Given the description of an element on the screen output the (x, y) to click on. 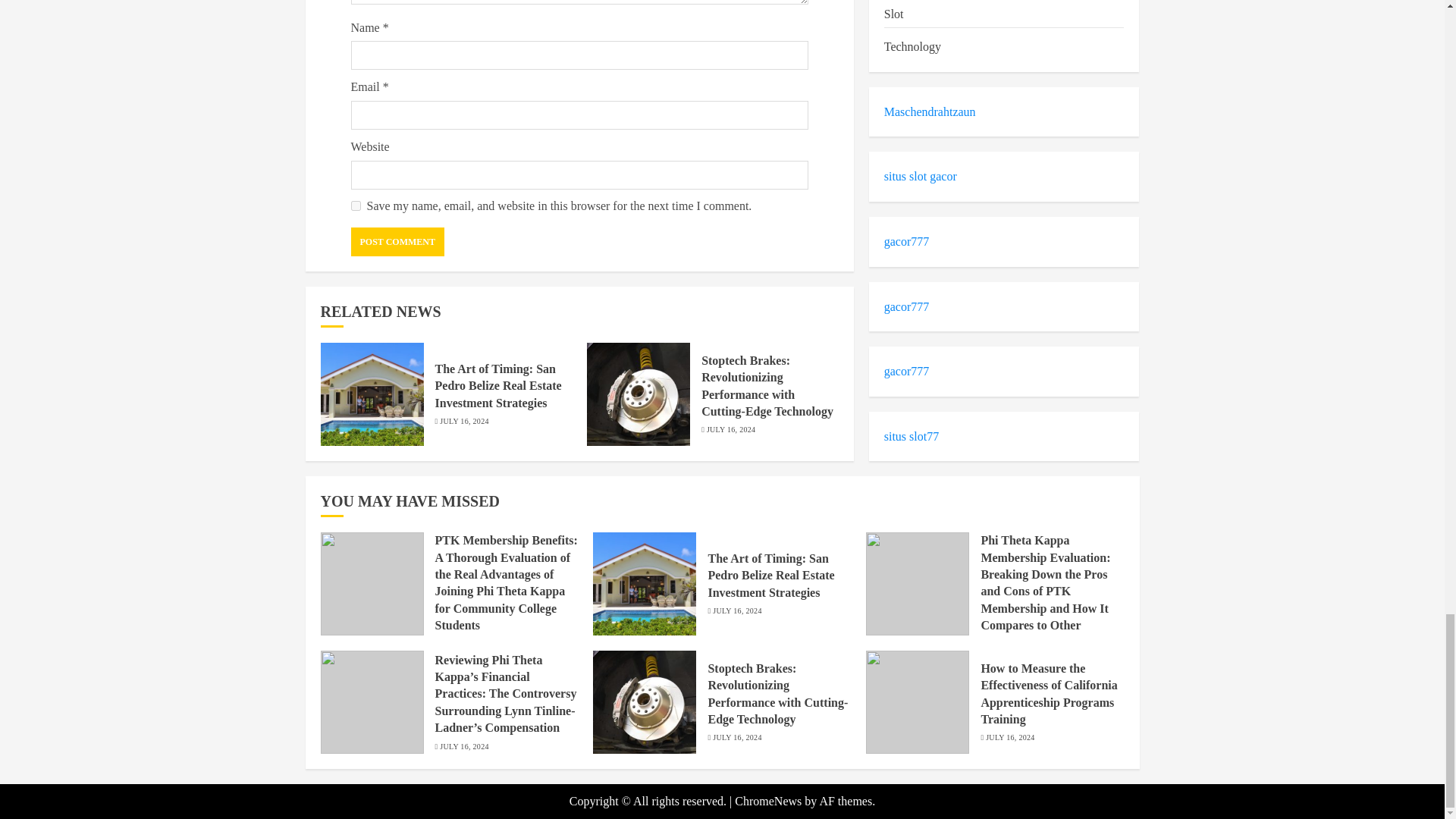
Post Comment (397, 241)
yes (354, 205)
Post Comment (397, 241)
JULY 16, 2024 (730, 429)
JULY 16, 2024 (463, 421)
